Given the description of an element on the screen output the (x, y) to click on. 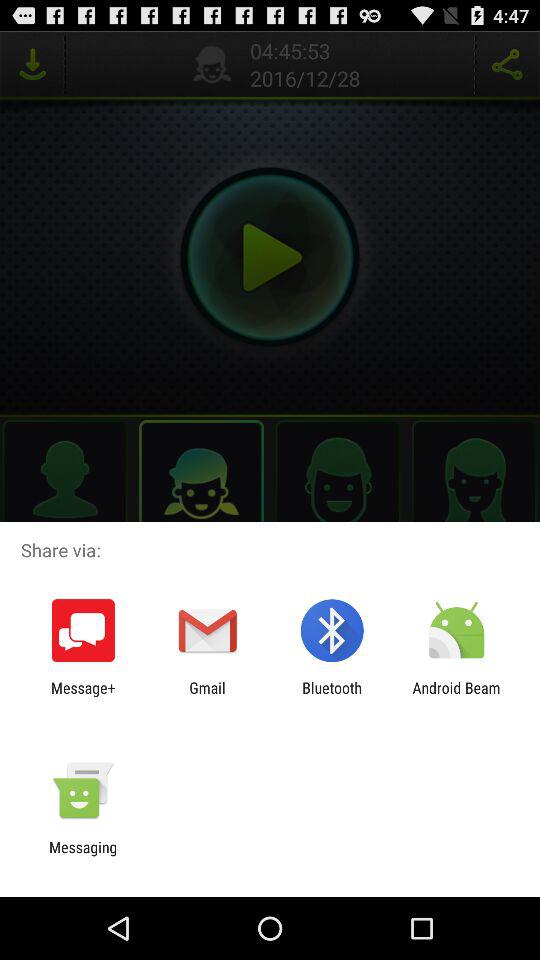
turn on item next to bluetooth icon (456, 696)
